Given the description of an element on the screen output the (x, y) to click on. 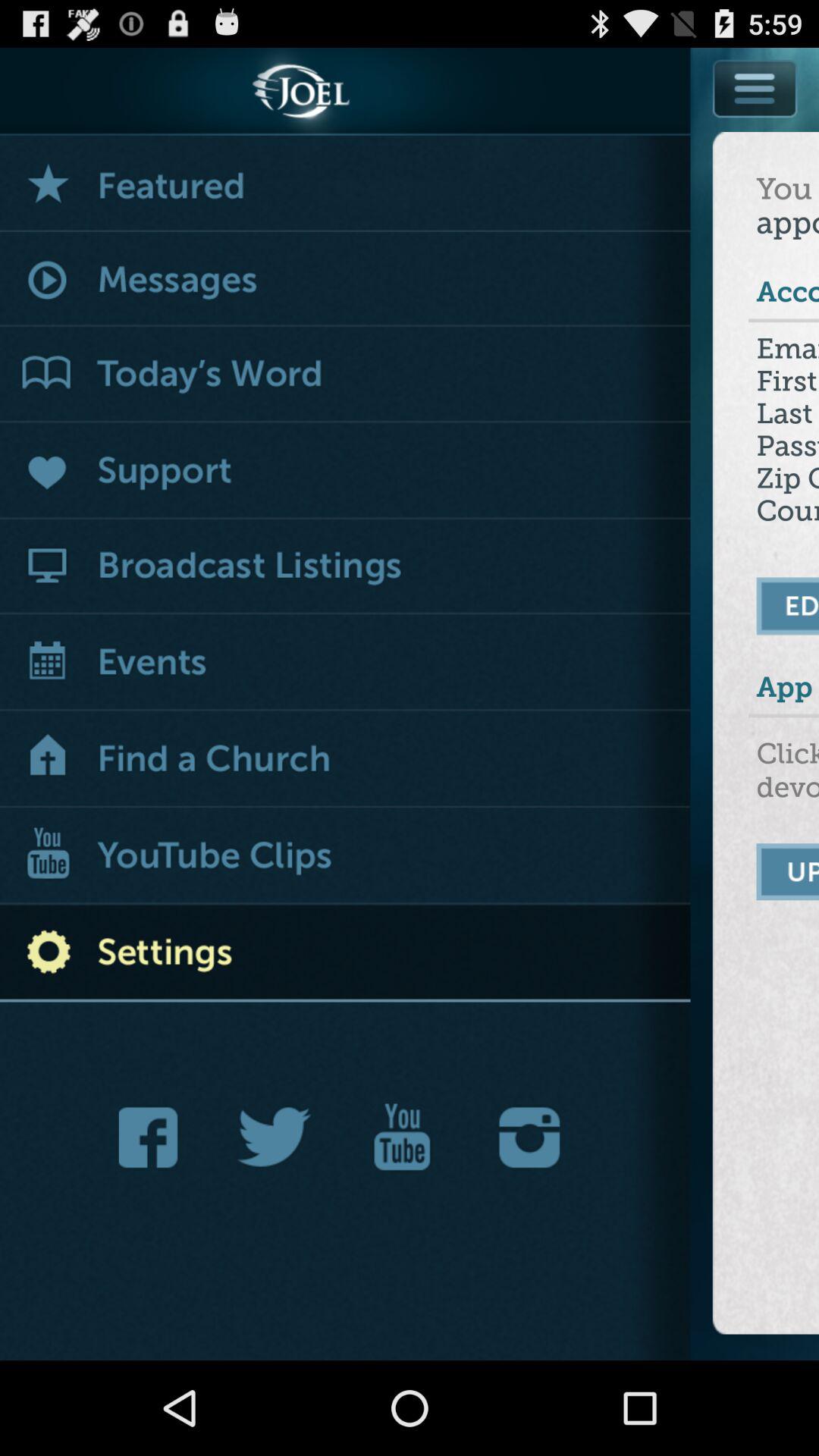
hit the messages option (345, 280)
